Given the description of an element on the screen output the (x, y) to click on. 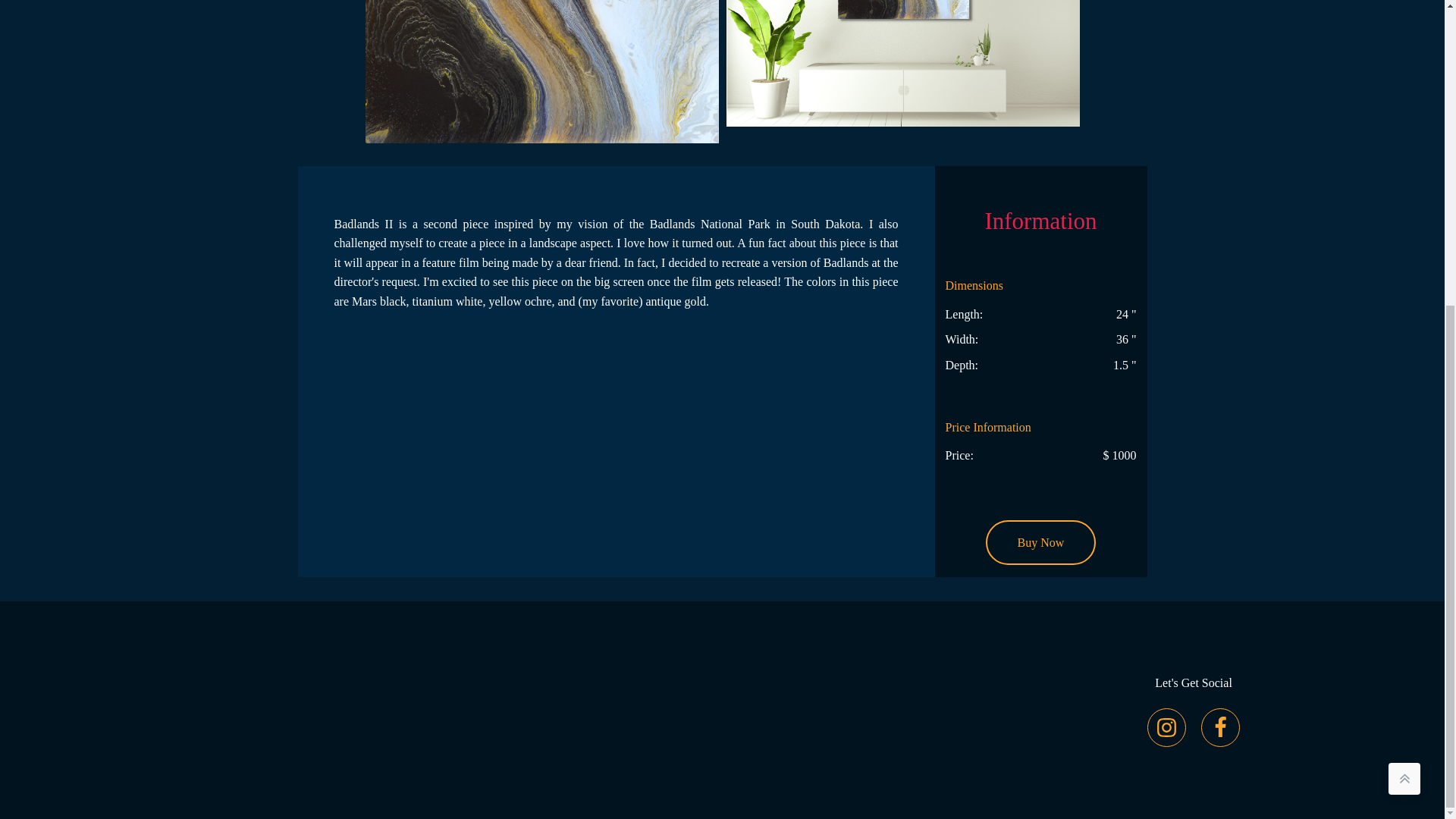
Badlands II (542, 71)
Buy Now (1040, 542)
Badlands II in room (903, 63)
